Given the description of an element on the screen output the (x, y) to click on. 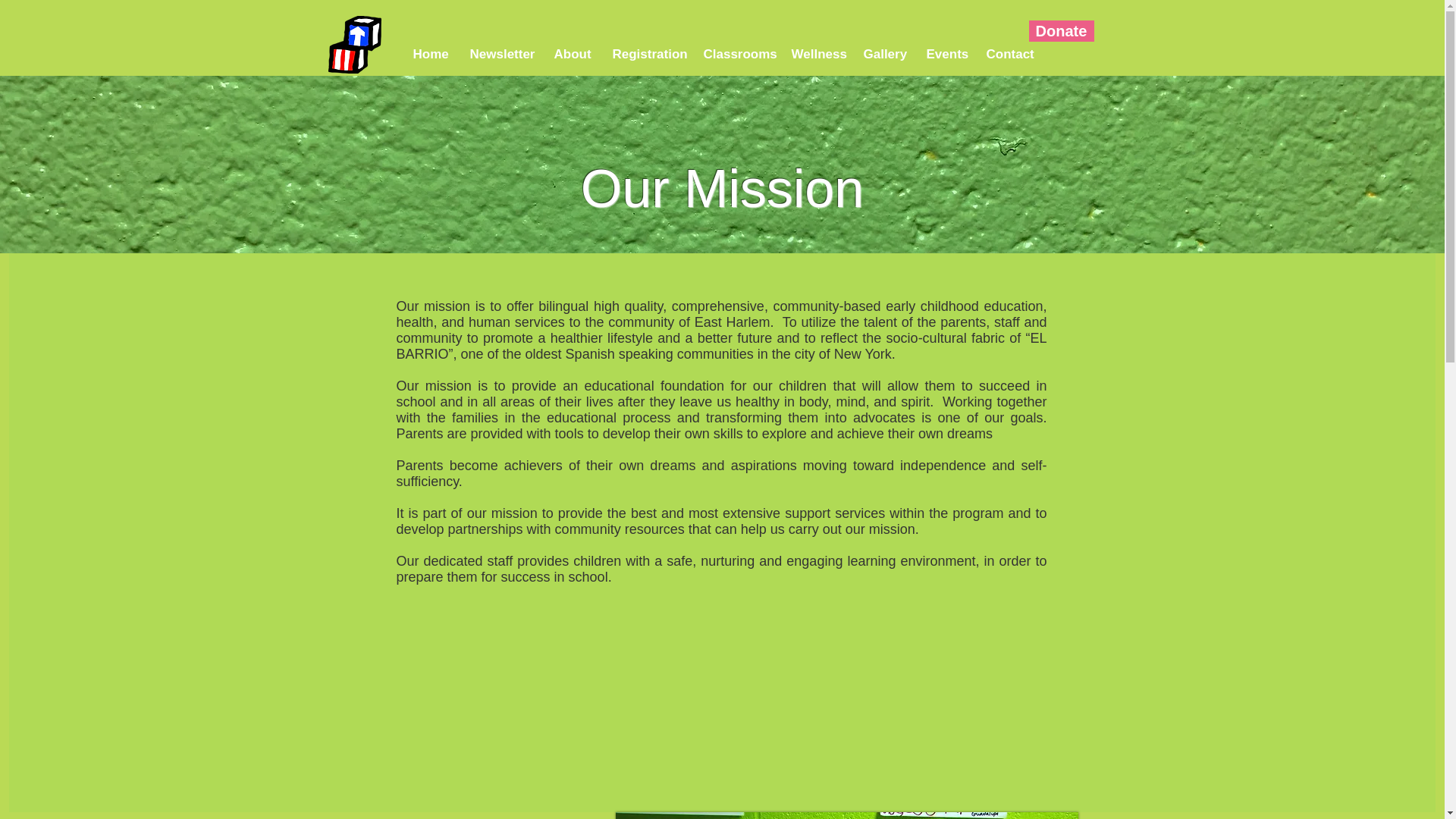
Classrooms (734, 53)
Home (429, 53)
About (572, 53)
Gallery (883, 53)
Donate (1060, 30)
Registration (645, 53)
Wellness (814, 53)
Newsletter (499, 53)
Events (944, 53)
Contact (1009, 53)
